Given the description of an element on the screen output the (x, y) to click on. 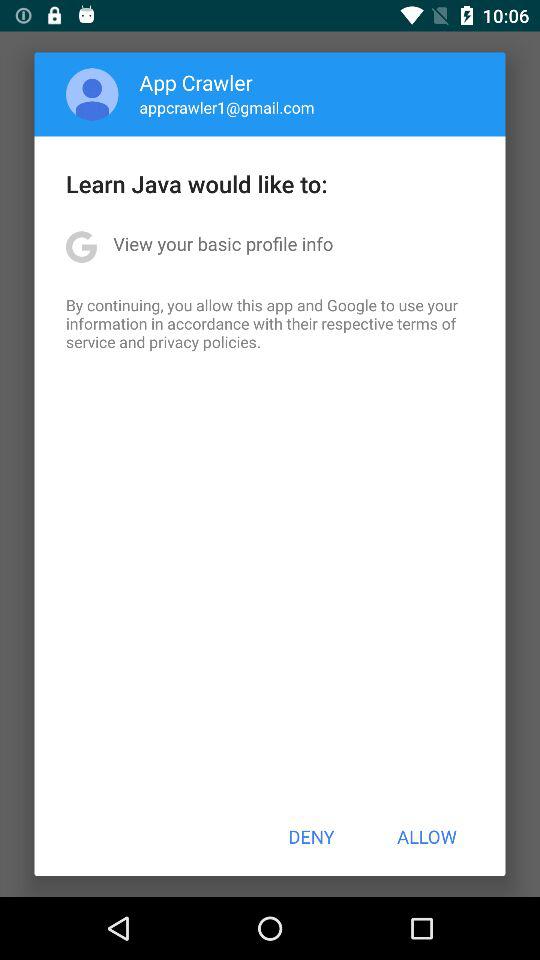
select the icon to the left of the allow (311, 836)
